Given the description of an element on the screen output the (x, y) to click on. 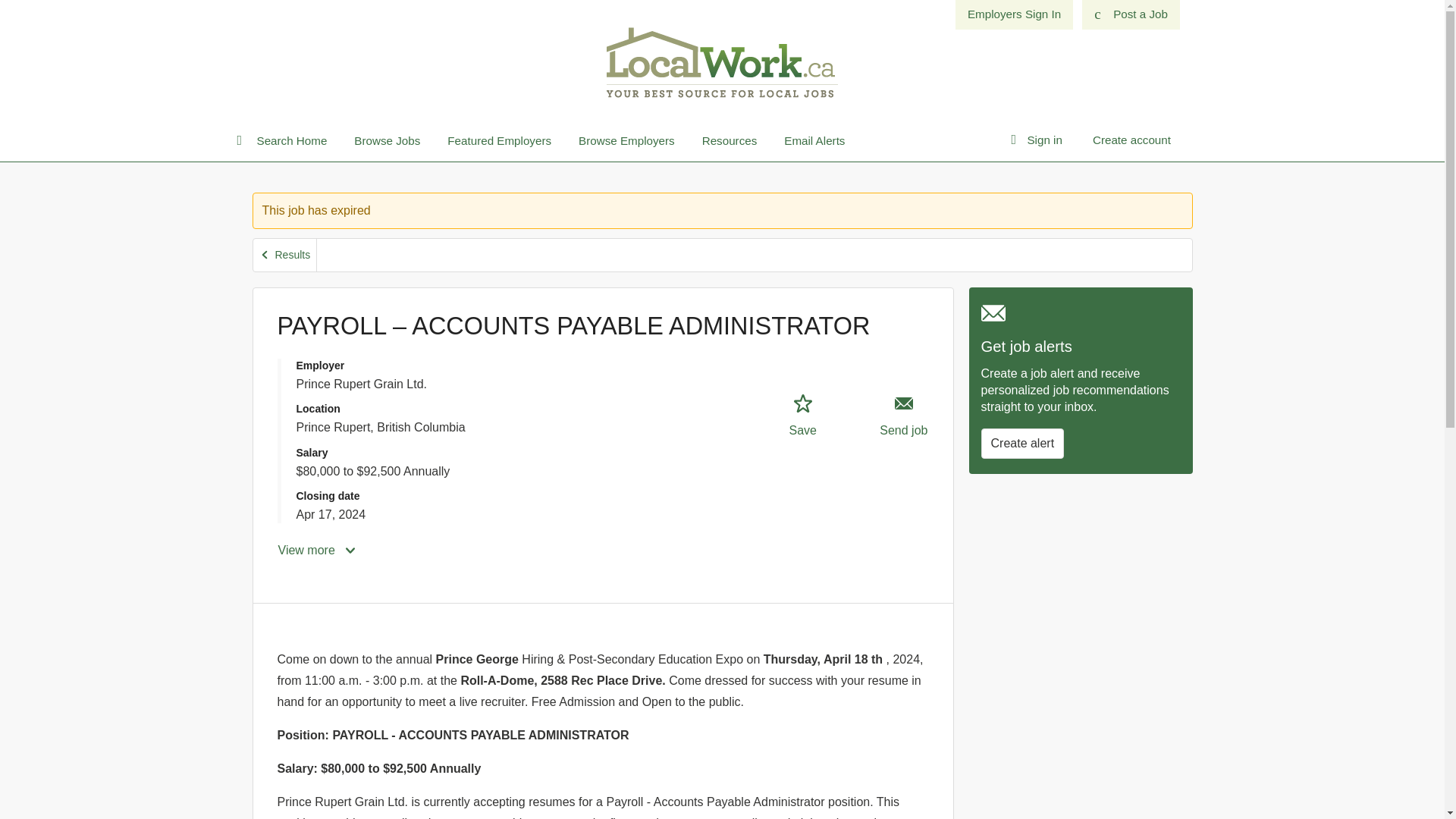
Search Home (287, 141)
Featured Employers (498, 141)
View more (318, 550)
Create alert (1022, 443)
LocalWork.ca (722, 61)
Post a Job (1130, 14)
Browse Jobs (386, 141)
Create account (1131, 140)
Resources (729, 141)
Employers Sign In (802, 415)
Send job (1014, 14)
Browse Employers (903, 415)
Results (626, 141)
Email Alerts (285, 255)
